Given the description of an element on the screen output the (x, y) to click on. 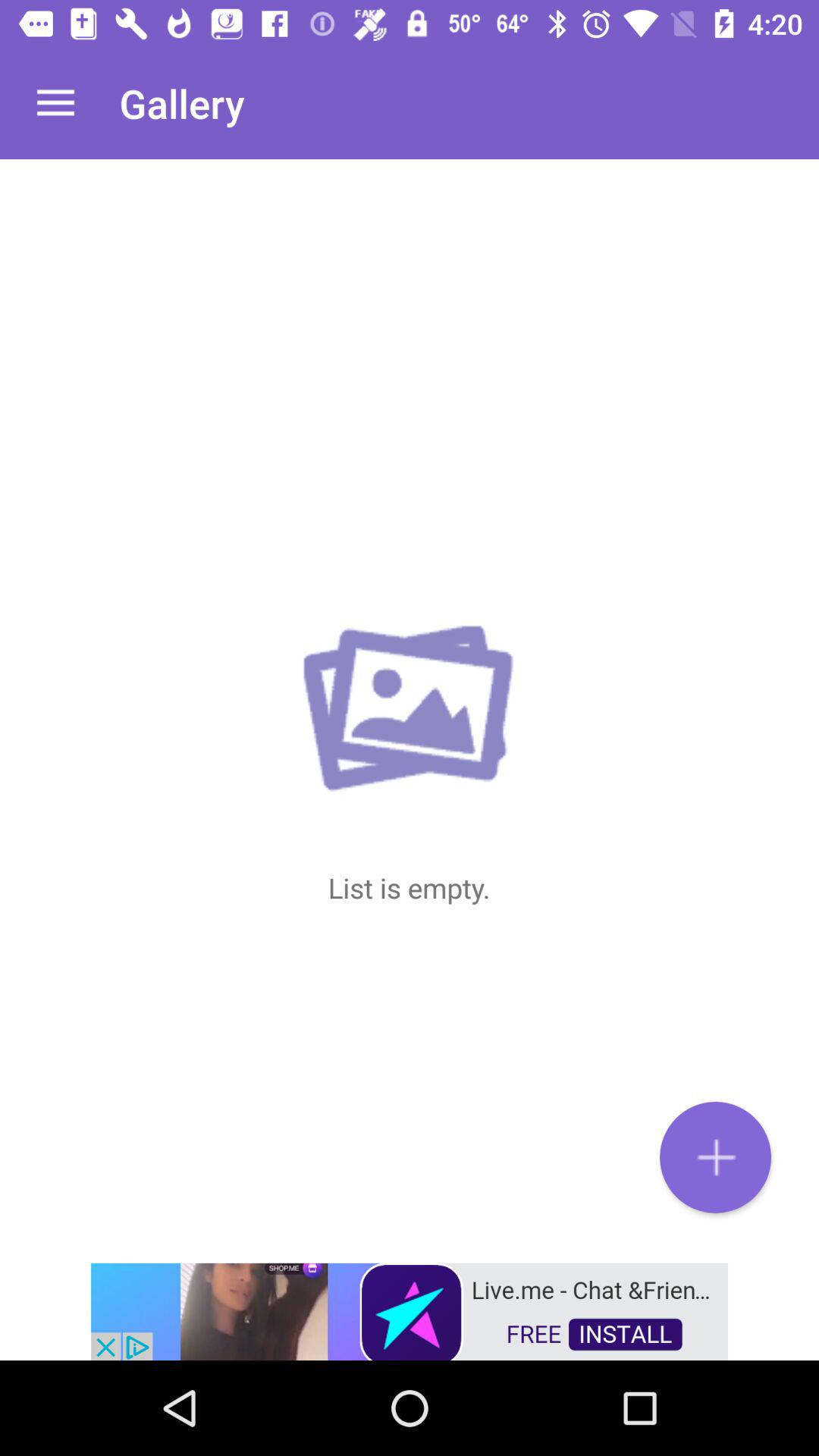
advertisement banner (409, 1310)
